Given the description of an element on the screen output the (x, y) to click on. 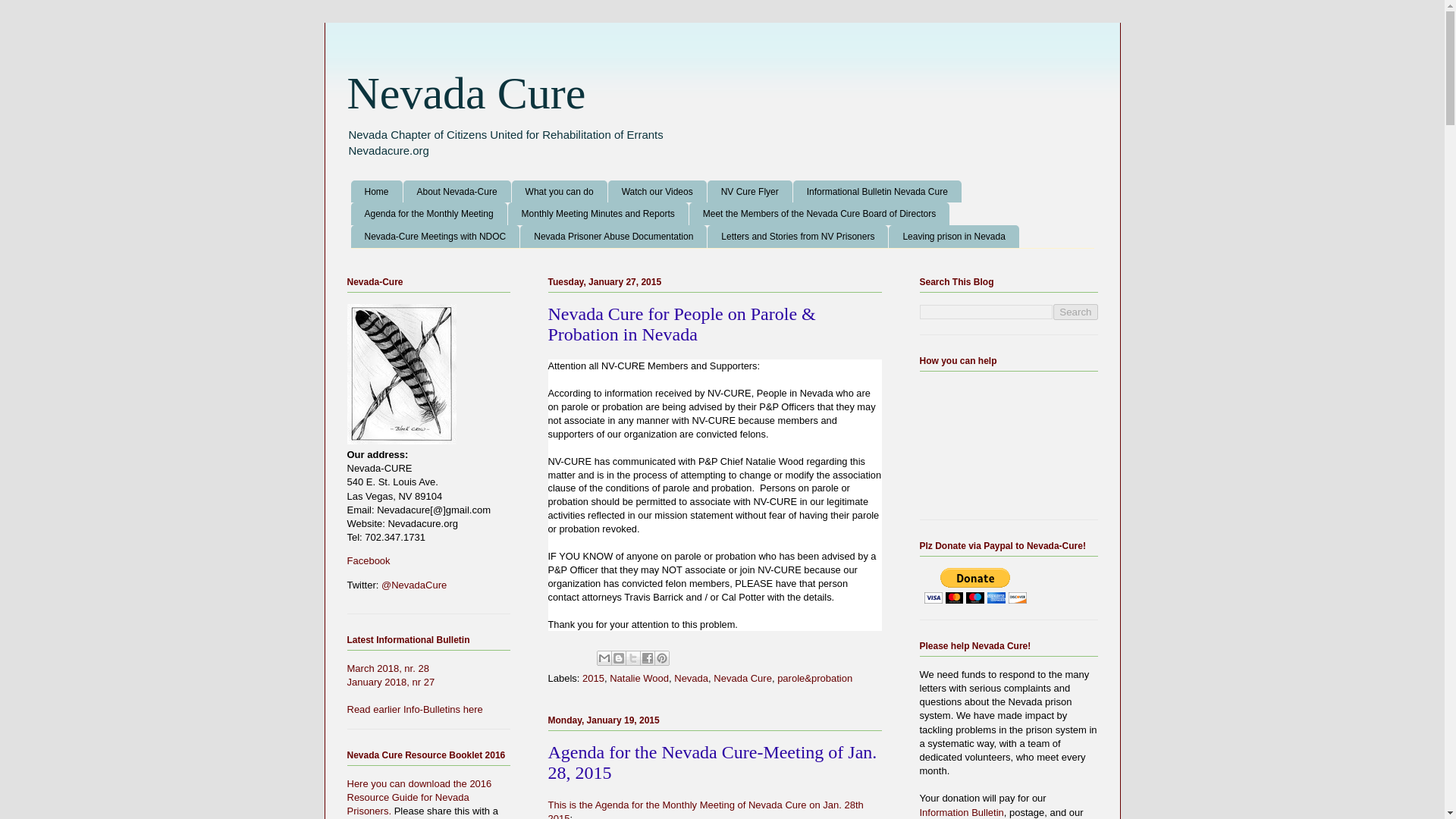
Share to Twitter (632, 657)
BlogThis! (618, 657)
NV Cure Flyer (749, 191)
Nevada-Cure Meetings with NDOC (434, 236)
Home (375, 191)
Agenda for the Nevada Cure-Meeting of Jan. 28, 2015 (711, 762)
Search (1074, 311)
Nevada Prisoner Abuse Documentation (612, 236)
Share to Facebook (647, 657)
